Given the description of an element on the screen output the (x, y) to click on. 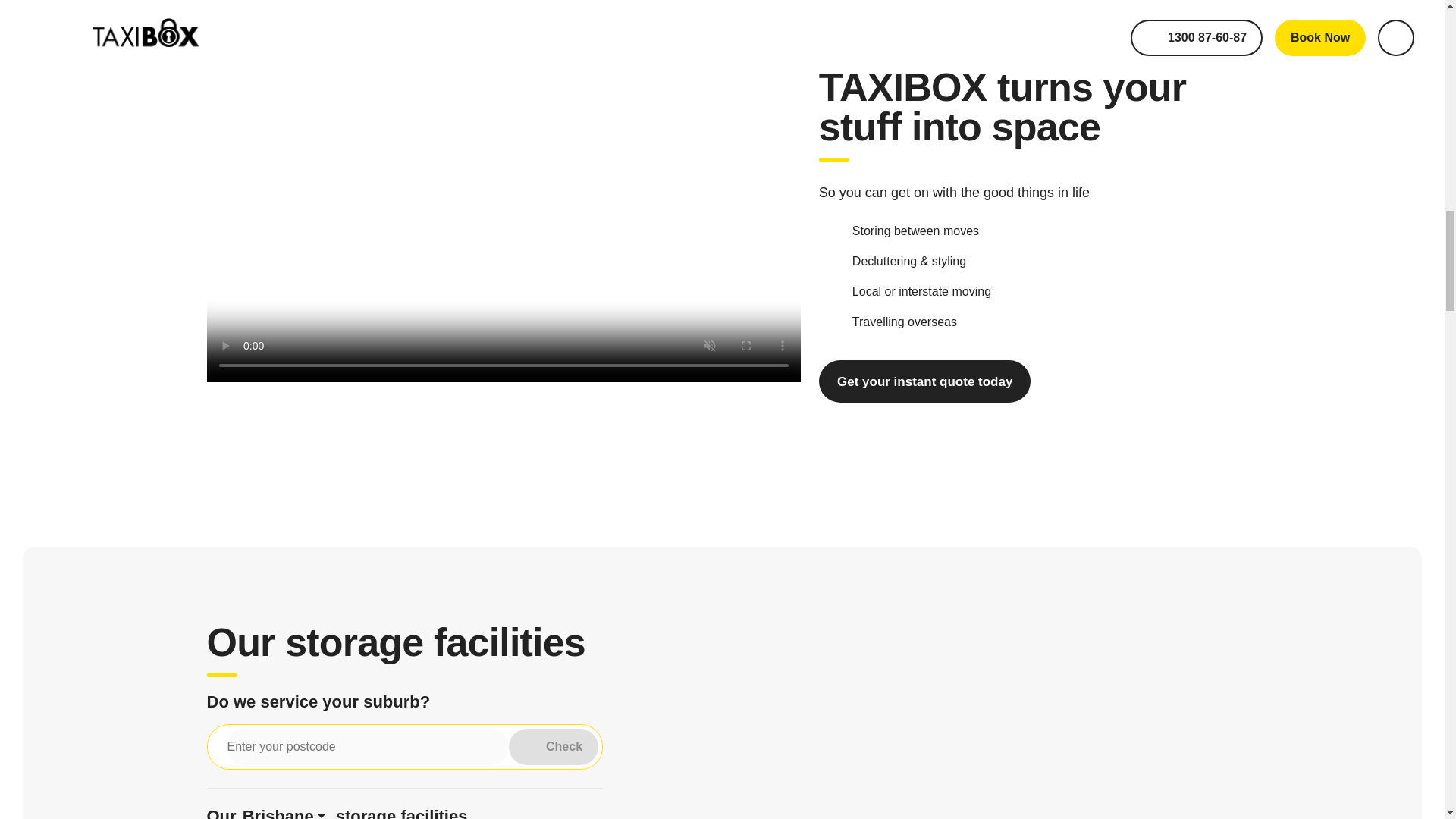
Get your instant quote today (924, 381)
Check (553, 746)
